Given the description of an element on the screen output the (x, y) to click on. 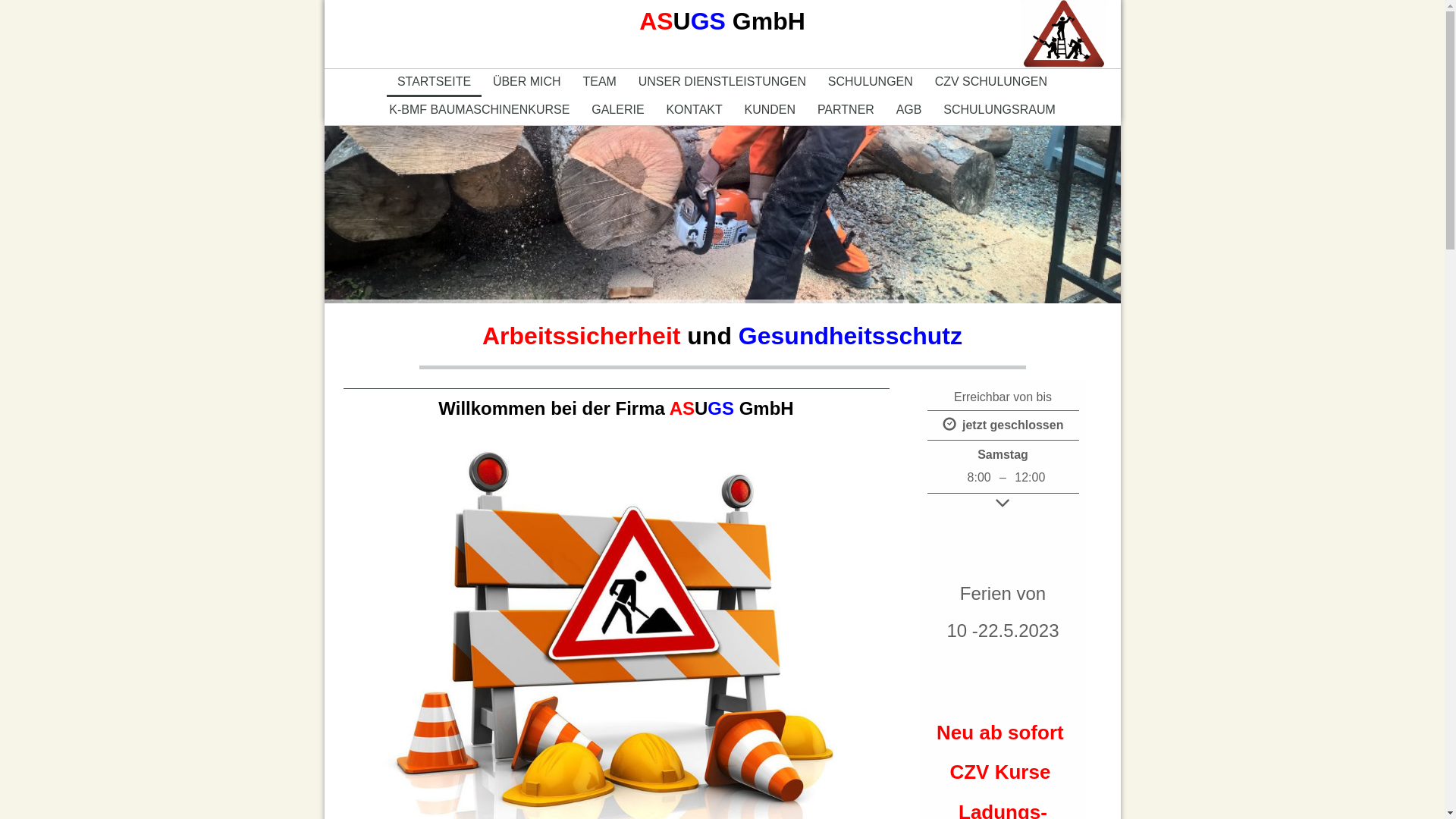
UNSER DIENSTLEISTUNGEN Element type: text (721, 81)
GALERIE Element type: text (617, 109)
SCHULUNGSRAUM Element type: text (999, 109)
CZV SCHULUNGEN Element type: text (990, 81)
TEAM Element type: text (599, 81)
KONTAKT Element type: text (694, 109)
KUNDEN Element type: text (769, 109)
STARTSEITE Element type: text (434, 81)
K-BMF BAUMASCHINENKURSE Element type: text (479, 109)
SCHULUNGEN Element type: text (869, 81)
AGB Element type: text (908, 109)
PARTNER Element type: text (845, 109)
  Element type: text (1063, 7)
